Given the description of an element on the screen output the (x, y) to click on. 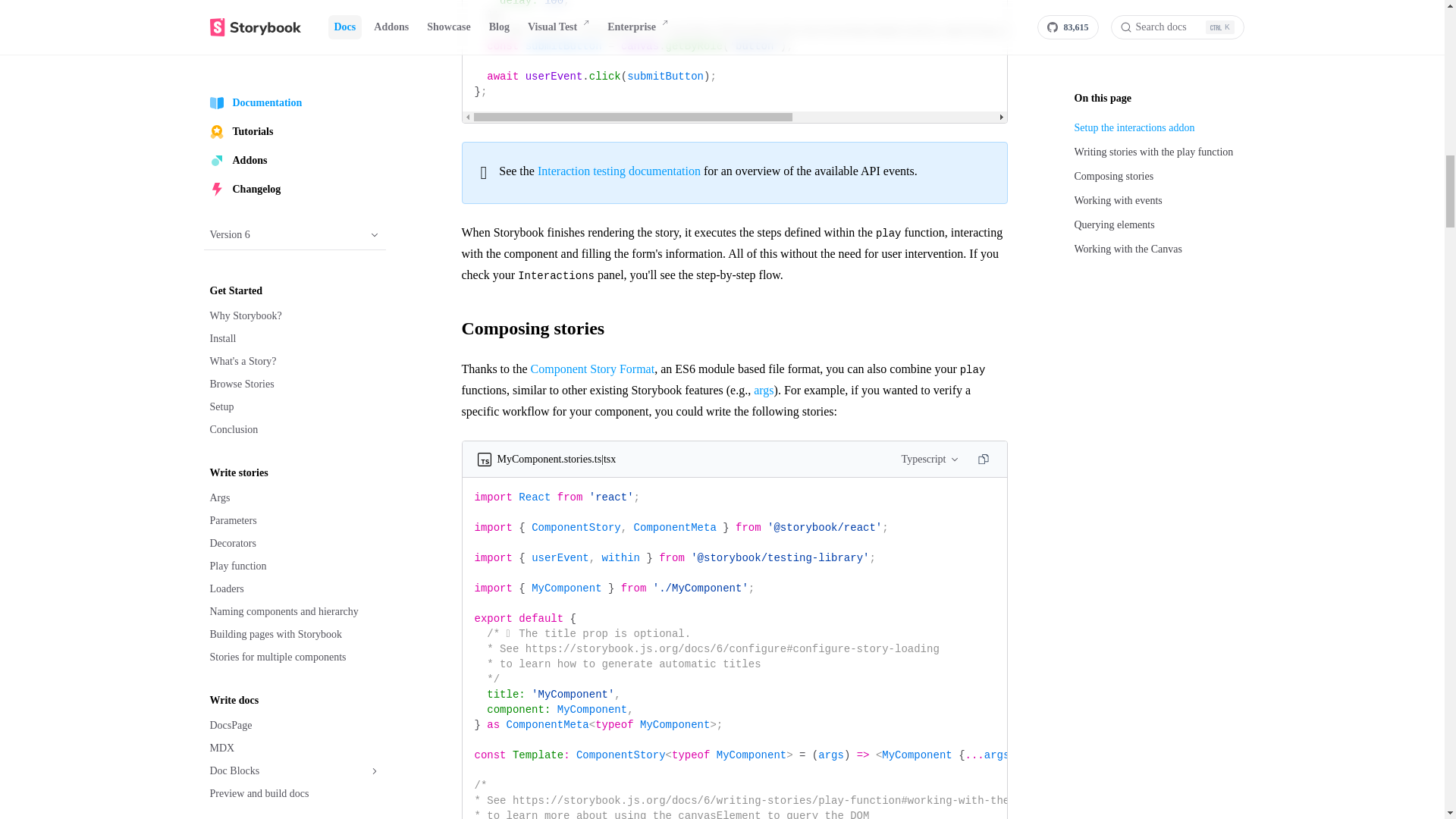
Composing stories (734, 328)
